Given the description of an element on the screen output the (x, y) to click on. 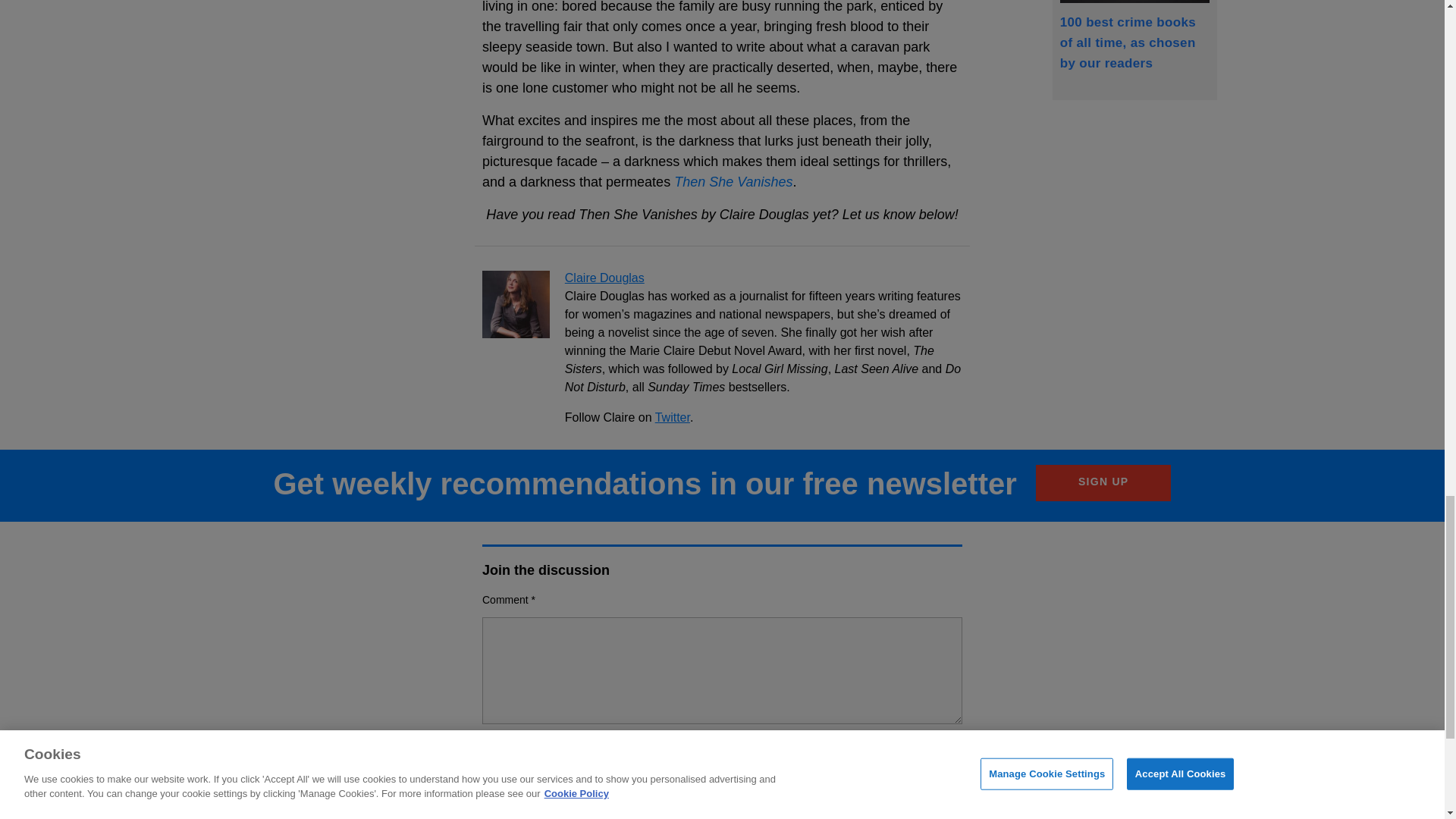
SIGN UP (1103, 483)
100 best crime books of all time, as chosen by our readers (1134, 34)
Twitter (672, 417)
Claire Douglas (604, 277)
Submit (887, 790)
Submit (887, 790)
Then She Vanishes (733, 181)
